Given the description of an element on the screen output the (x, y) to click on. 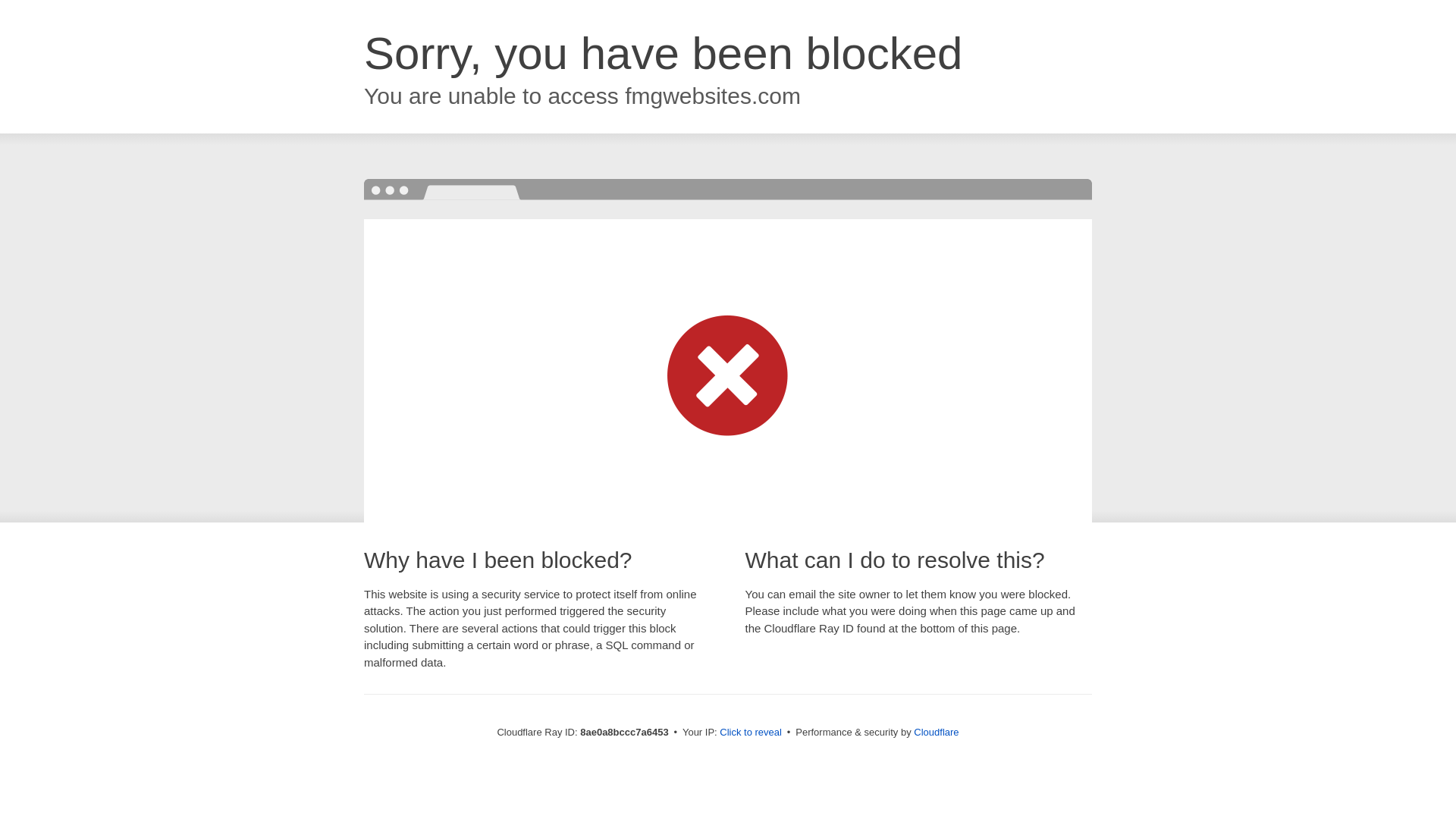
Click to reveal (750, 732)
Cloudflare (936, 731)
